Given the description of an element on the screen output the (x, y) to click on. 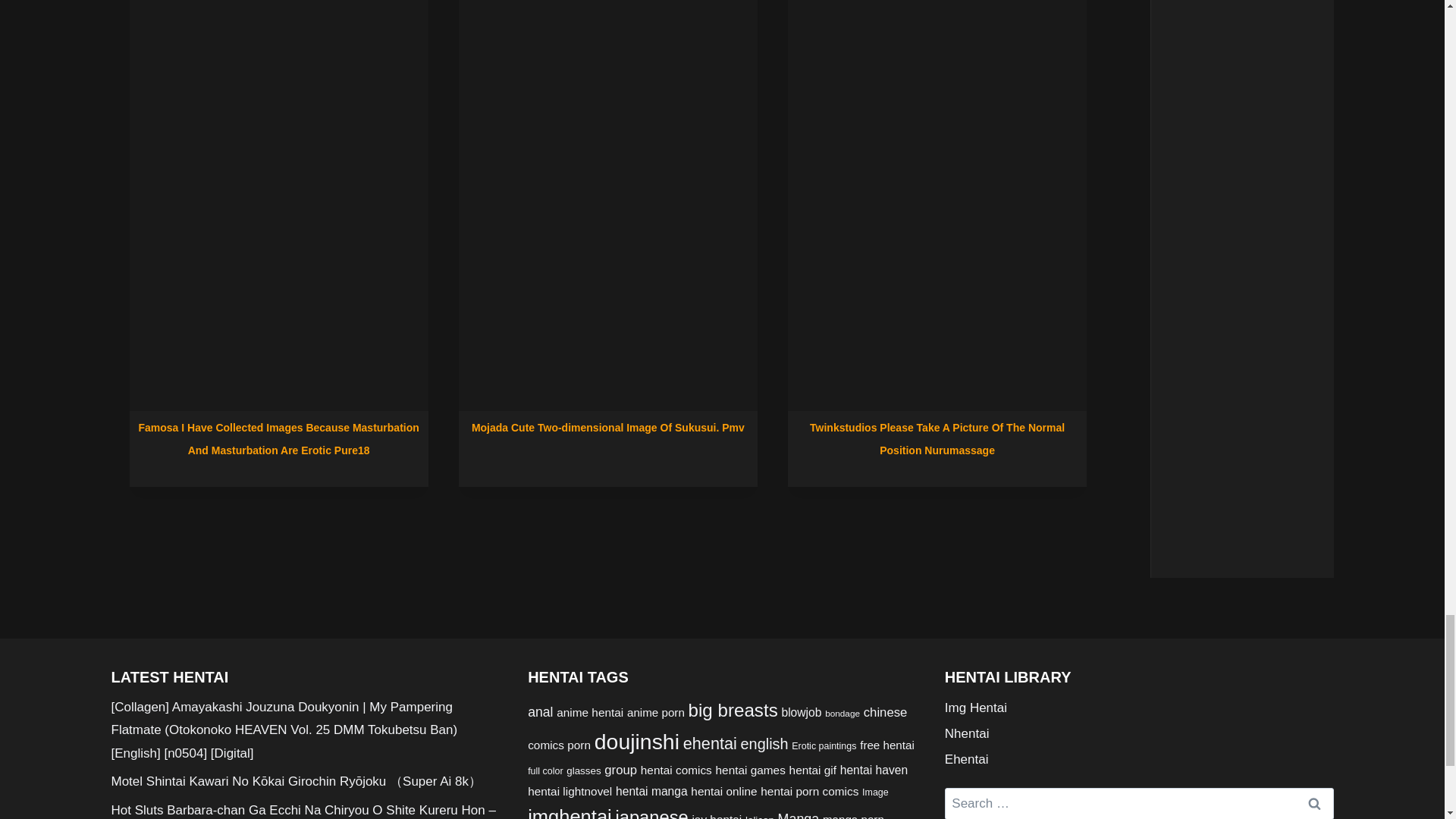
Search (1314, 803)
Search (1314, 803)
